Given the description of an element on the screen output the (x, y) to click on. 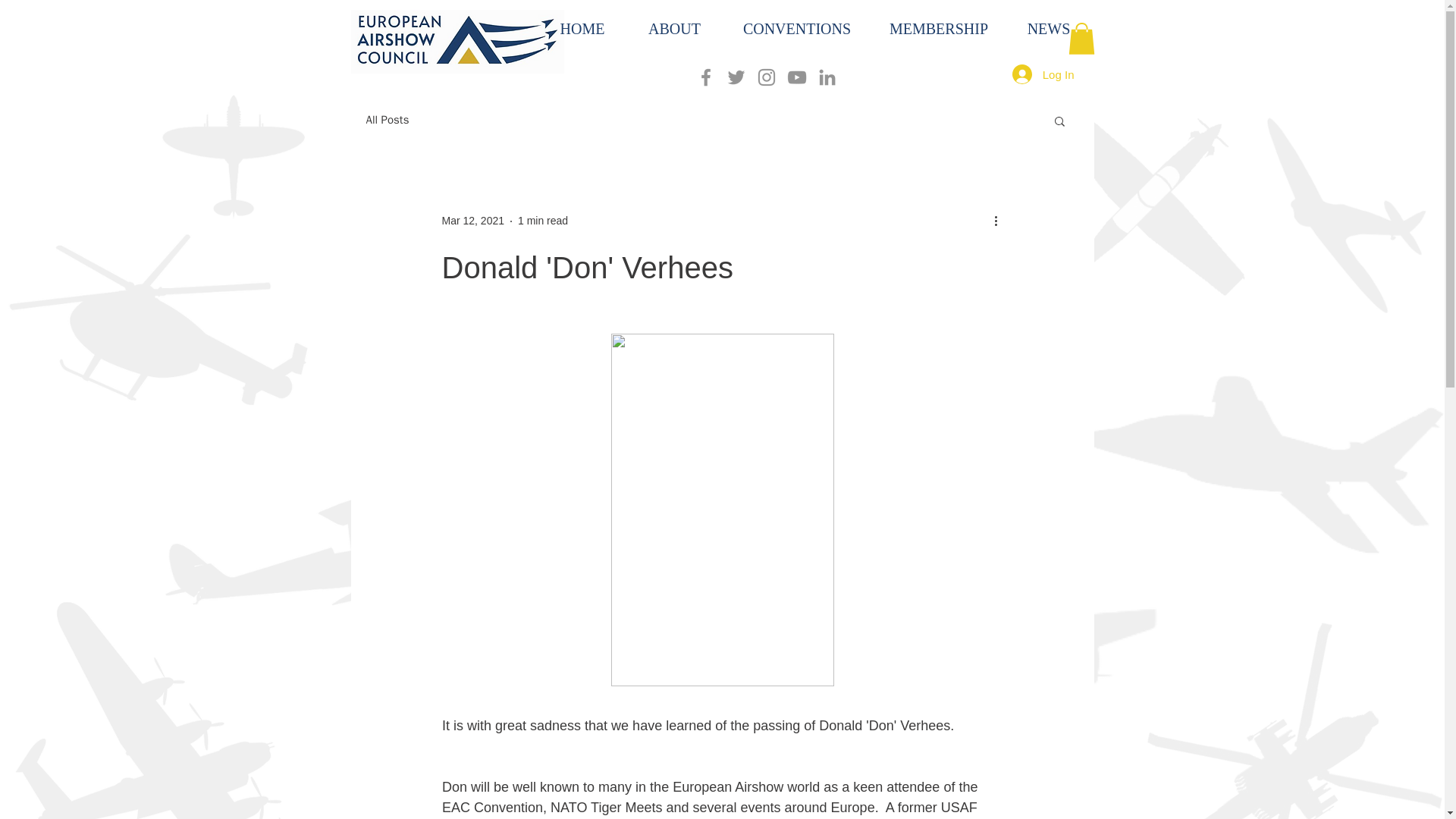
ABOUT (674, 29)
All Posts (387, 120)
MEMBERSHIP (938, 29)
Mar 12, 2021 (472, 220)
CONVENTIONS (796, 29)
1 min read (542, 220)
Log In (1042, 73)
NEWS (1048, 29)
HOME (582, 29)
